Given the description of an element on the screen output the (x, y) to click on. 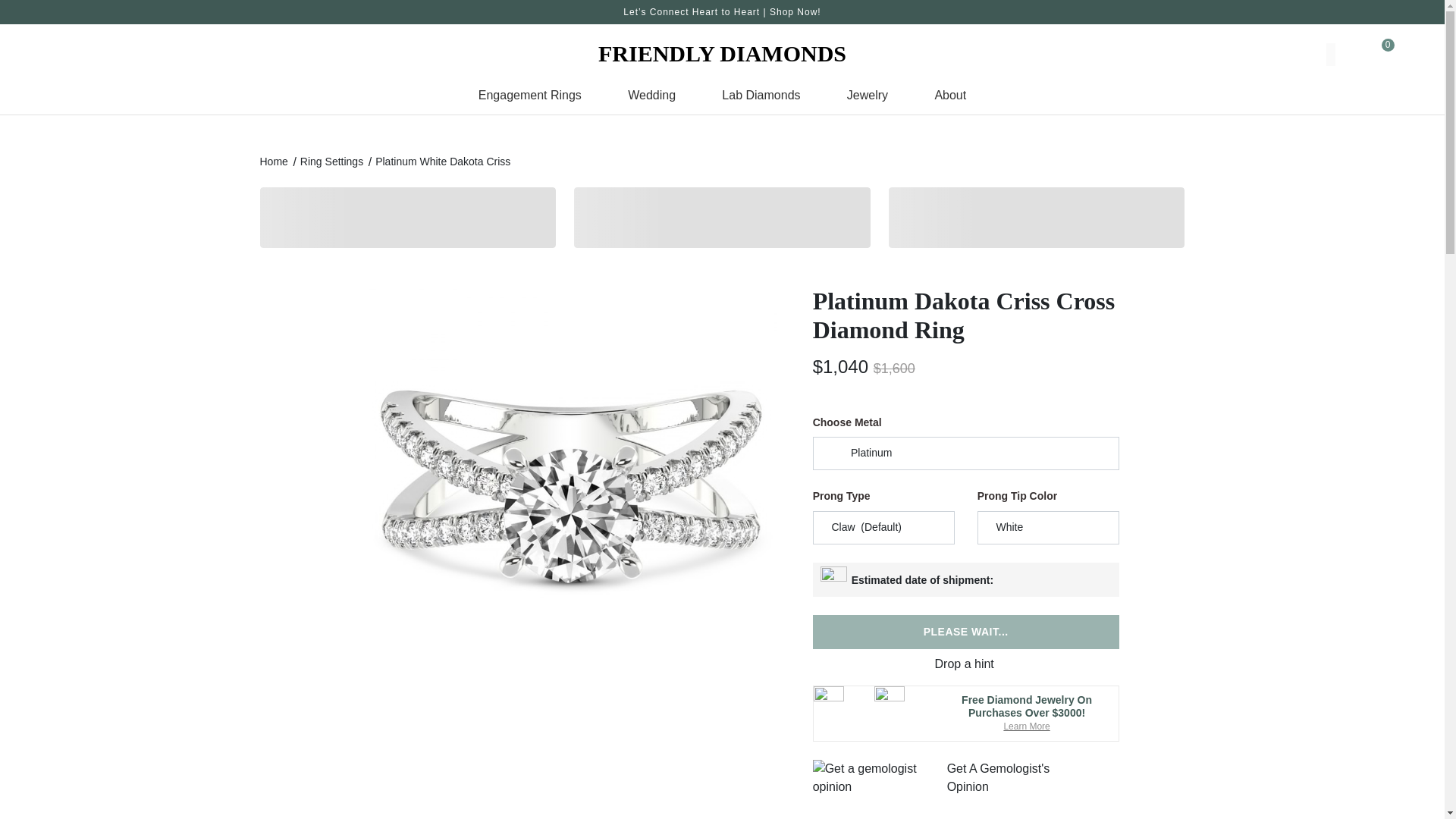
FRIENDLY DIAMONDS (721, 53)
Engagement Rings (530, 97)
